Given the description of an element on the screen output the (x, y) to click on. 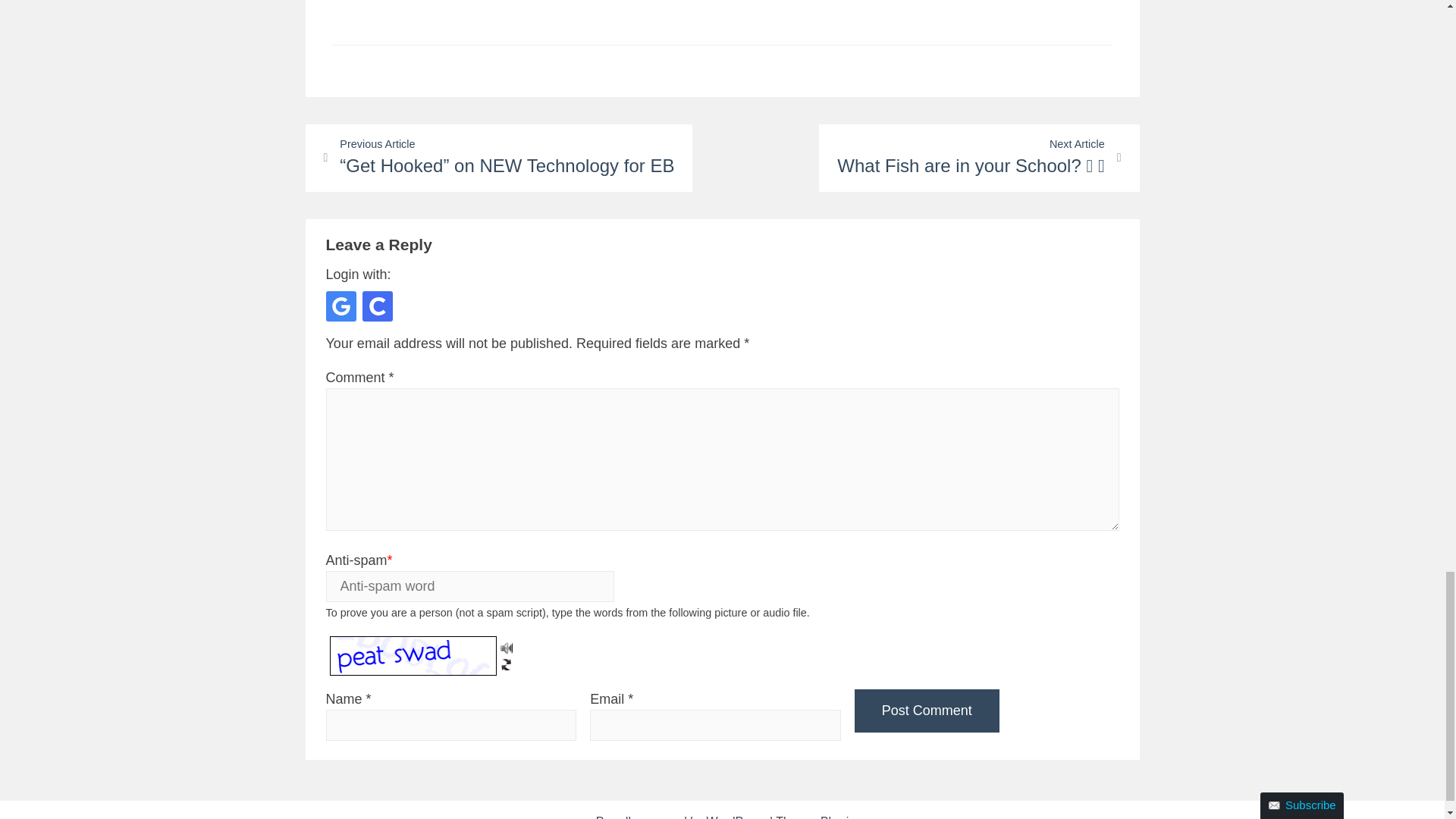
Listen (506, 645)
Post Comment (926, 710)
Post Comment (926, 710)
Continue with Clever (377, 306)
Continue with Google (341, 306)
Load new (506, 662)
